Given the description of an element on the screen output the (x, y) to click on. 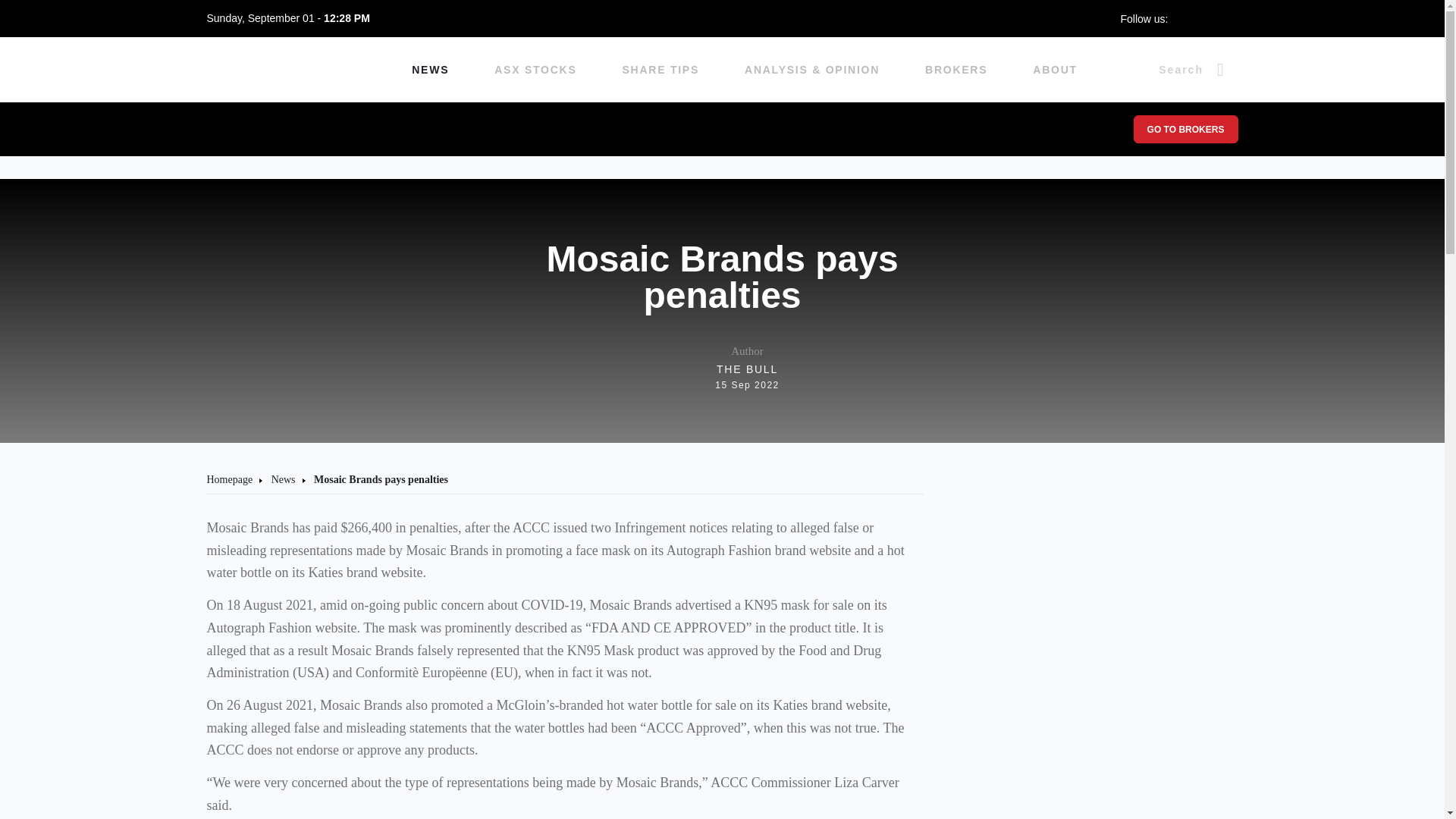
Homepage (228, 479)
BROKERS (955, 69)
NEWS (430, 69)
News (721, 367)
ABOUT (282, 479)
ASX STOCKS (1054, 69)
GO TO BROKERS (535, 69)
SHARE TIPS (1184, 129)
